Given the description of an element on the screen output the (x, y) to click on. 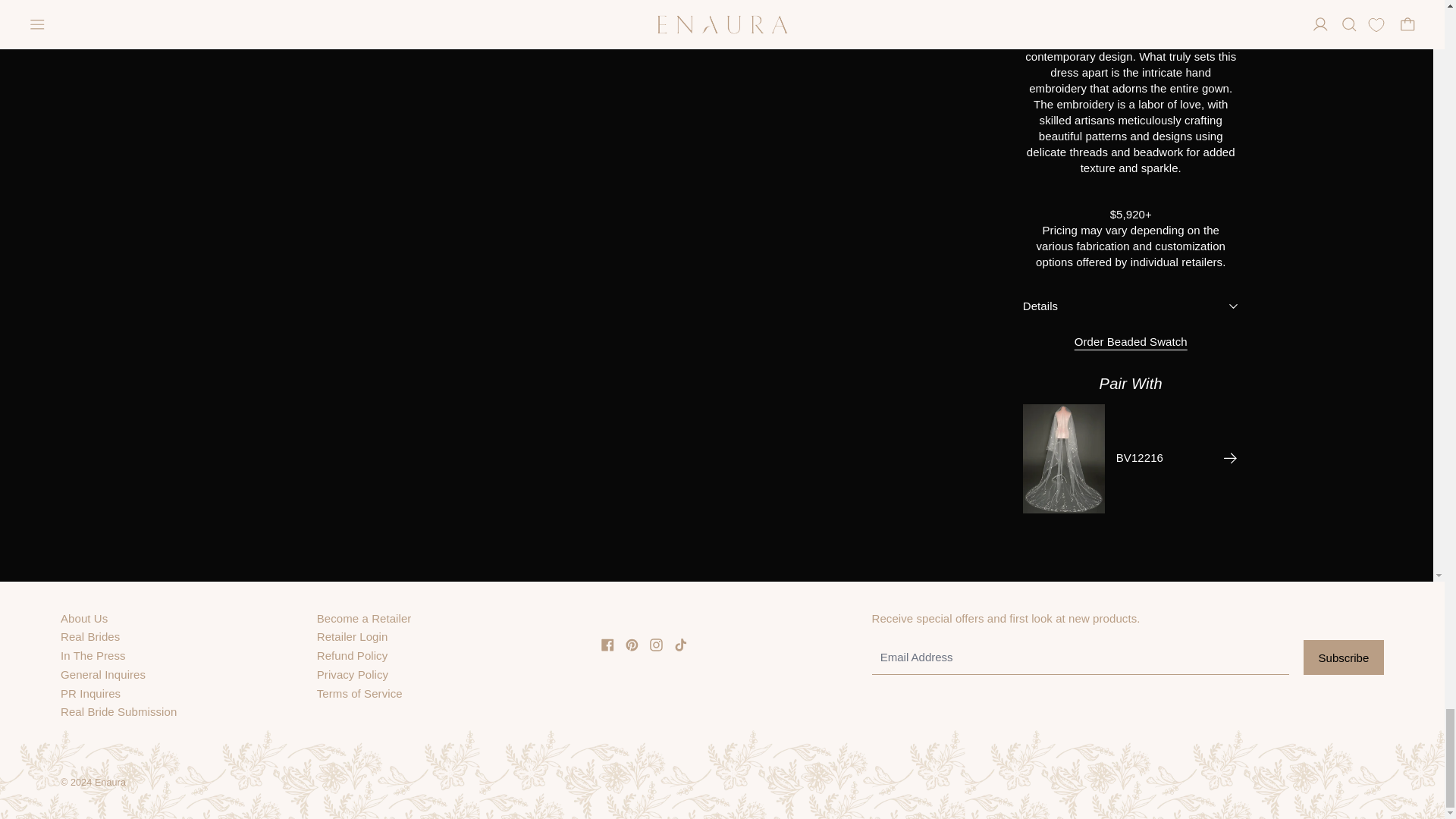
Refund Policy (352, 655)
PR Inquires (90, 693)
Become a Retailer (364, 617)
Real Brides (90, 635)
Real Bride Submission (118, 711)
In The Press (93, 655)
Terms of Service (360, 693)
Enaura (109, 782)
General Inquires (103, 674)
Retailer Login (352, 635)
Subscribe (1343, 656)
About Us (84, 617)
Privacy Policy (352, 674)
